Given the description of an element on the screen output the (x, y) to click on. 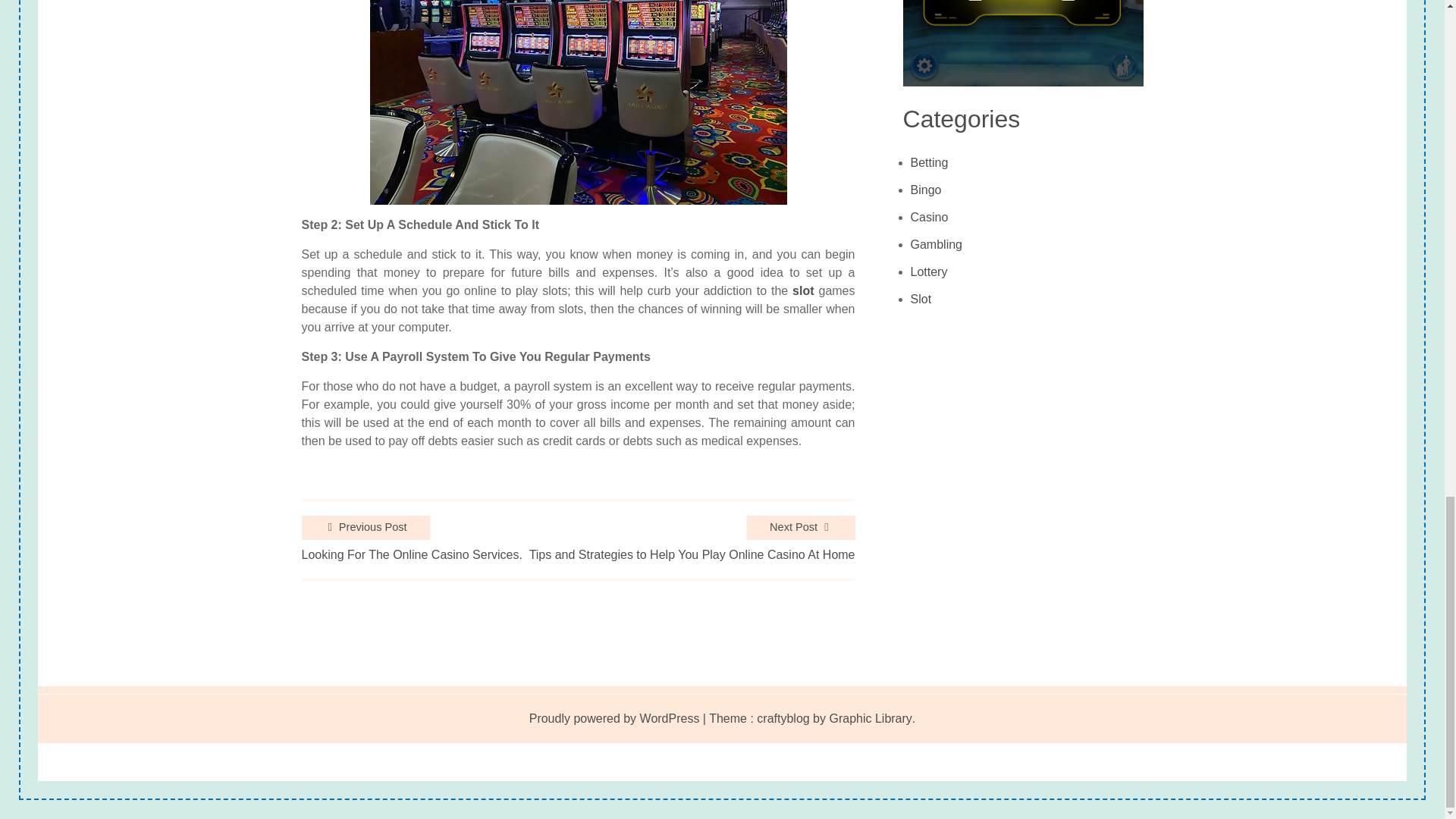
Proudly powered by WordPress (614, 719)
Next Post (800, 527)
Lottery (929, 271)
Betting (930, 162)
Looking For The Online Casino Services. (411, 555)
Previous Post (365, 527)
Graphic Library (869, 719)
Gambling (936, 244)
Tips and Strategies to Help You Play Online Casino At Home (692, 555)
Casino (930, 216)
